Given the description of an element on the screen output the (x, y) to click on. 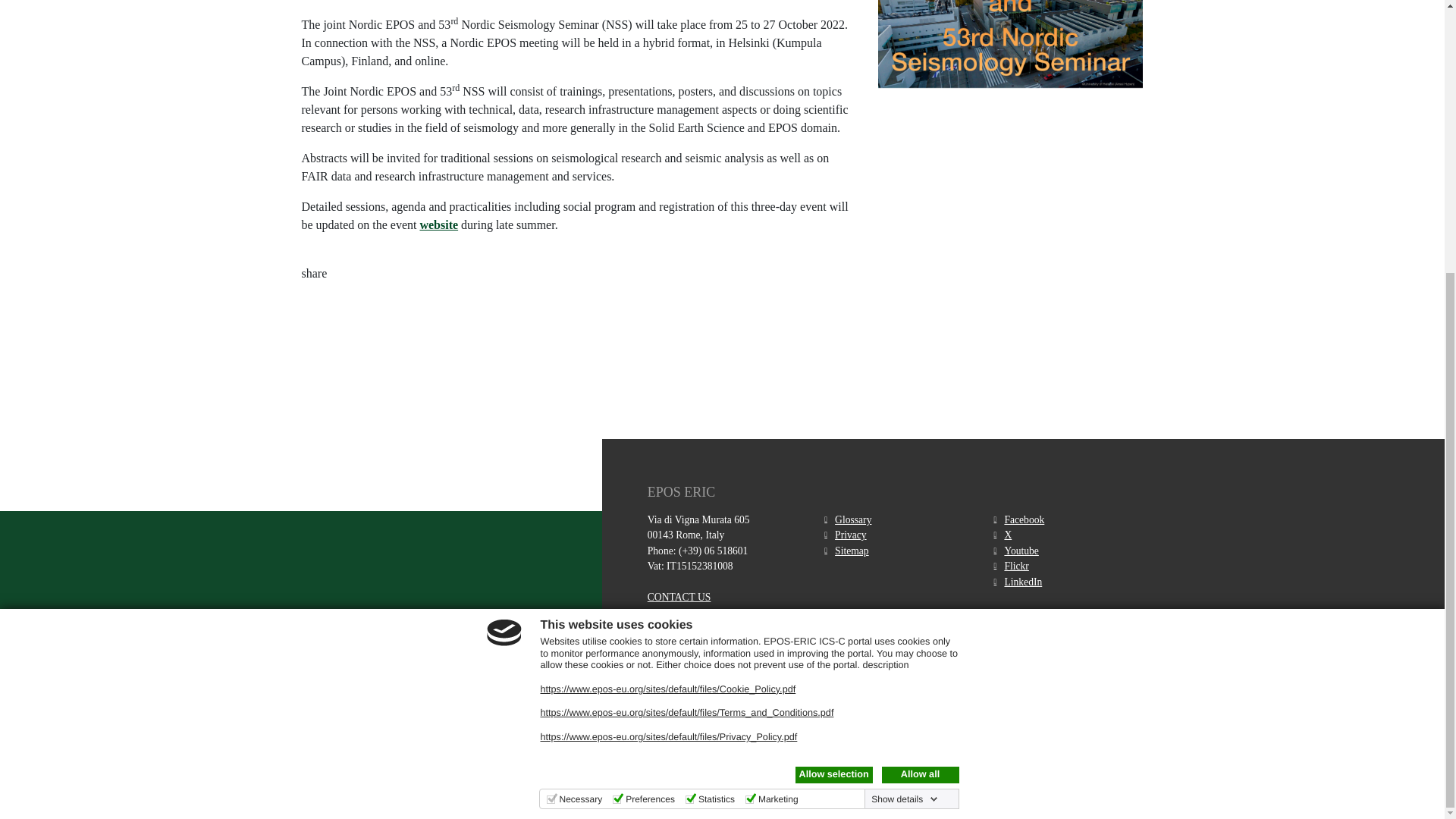
Show details (903, 398)
Allow all (919, 373)
Allow selection (833, 373)
